Given the description of an element on the screen output the (x, y) to click on. 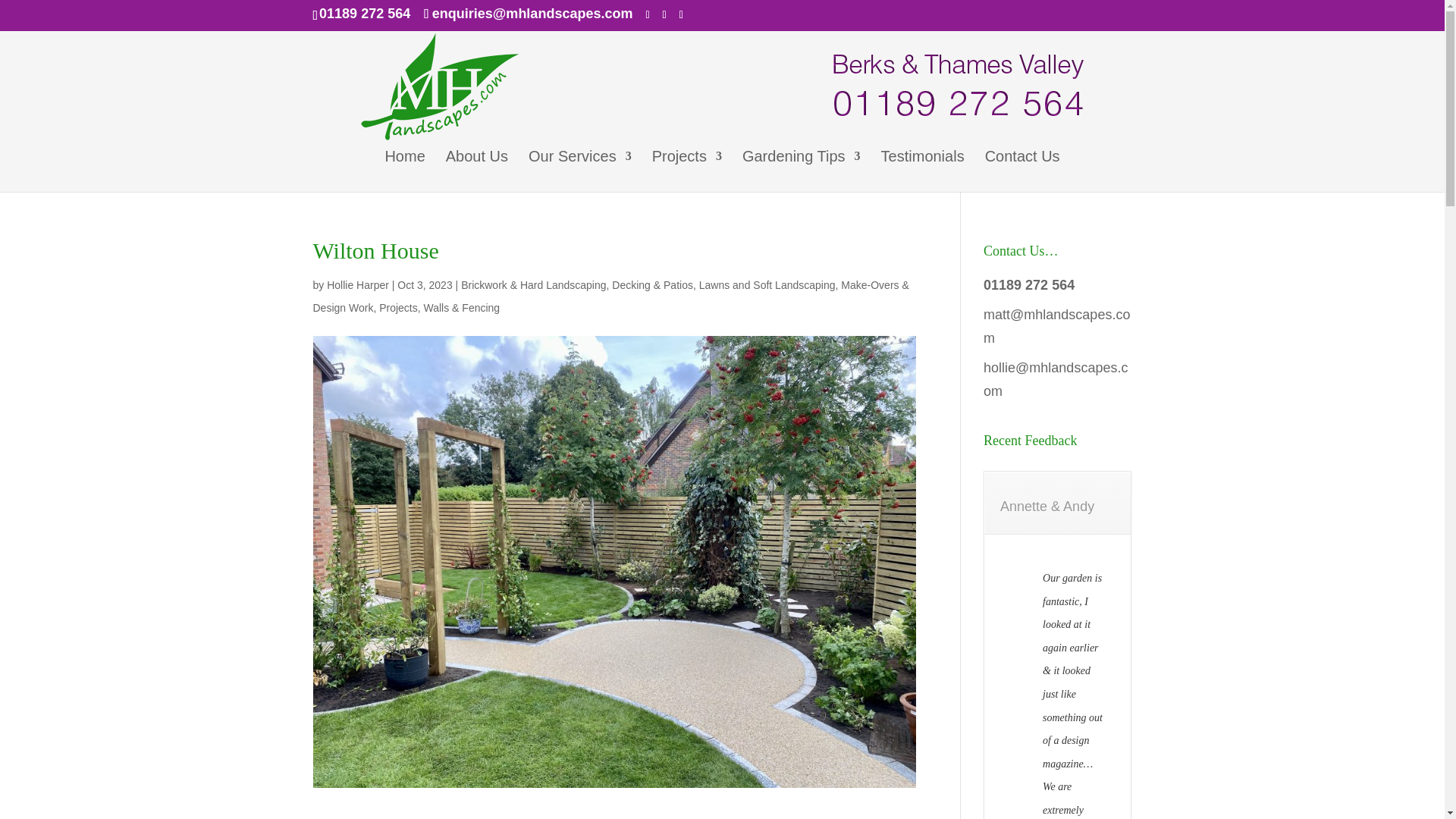
Testimonials (921, 169)
Posts by Hollie Harper (357, 285)
Contact Us (1022, 169)
About Us (476, 169)
Home (404, 169)
Projects (687, 169)
Gardening Tips (801, 169)
Our Services (579, 169)
